Given the description of an element on the screen output the (x, y) to click on. 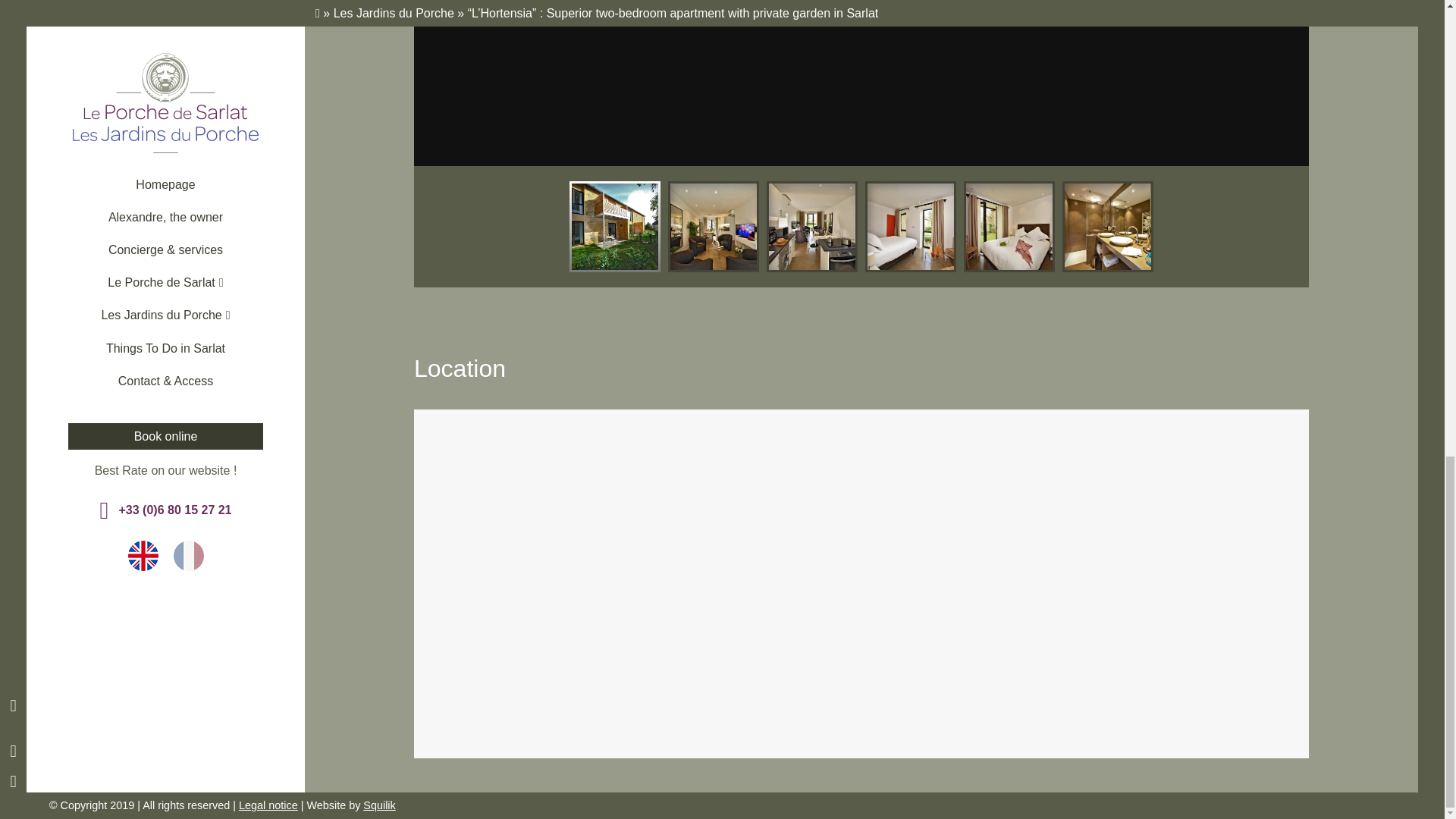
Squilik (378, 805)
Legal notice (268, 805)
